Given the description of an element on the screen output the (x, y) to click on. 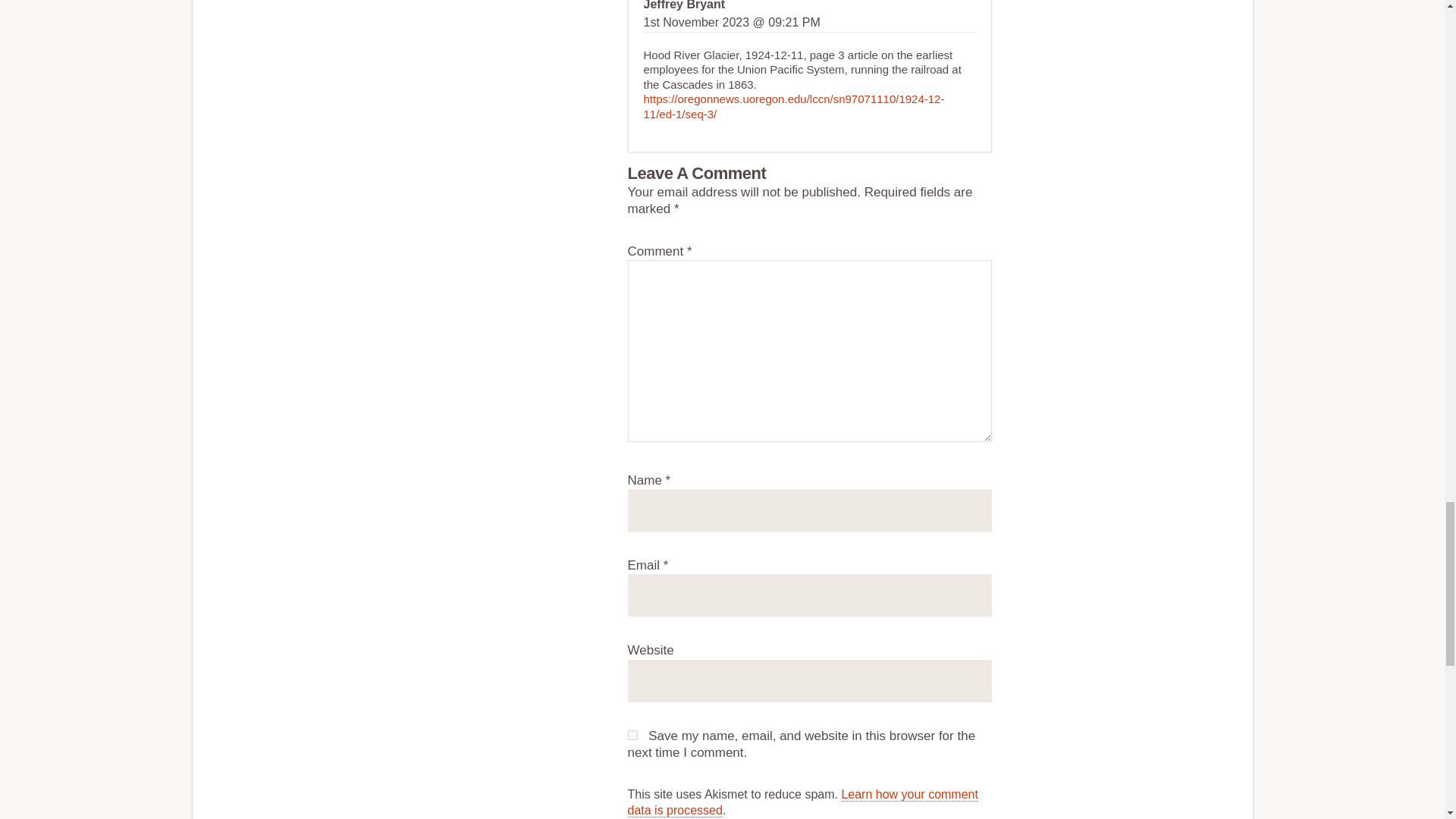
yes (632, 735)
